Given the description of an element on the screen output the (x, y) to click on. 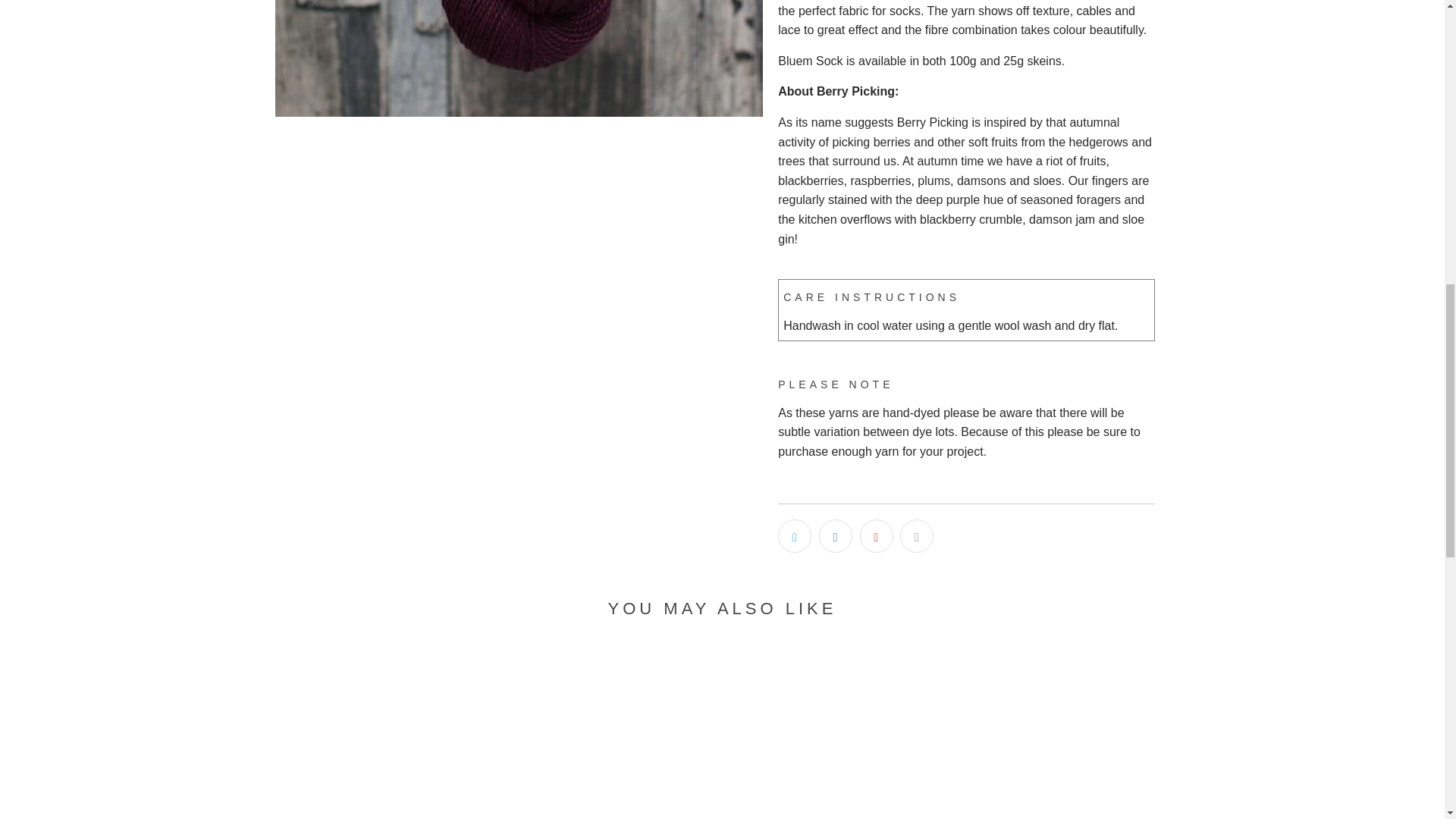
Share this on Twitter (793, 535)
Share this on Pinterest (876, 535)
Share this on Facebook (834, 535)
Email this to a friend (916, 535)
